Given the description of an element on the screen output the (x, y) to click on. 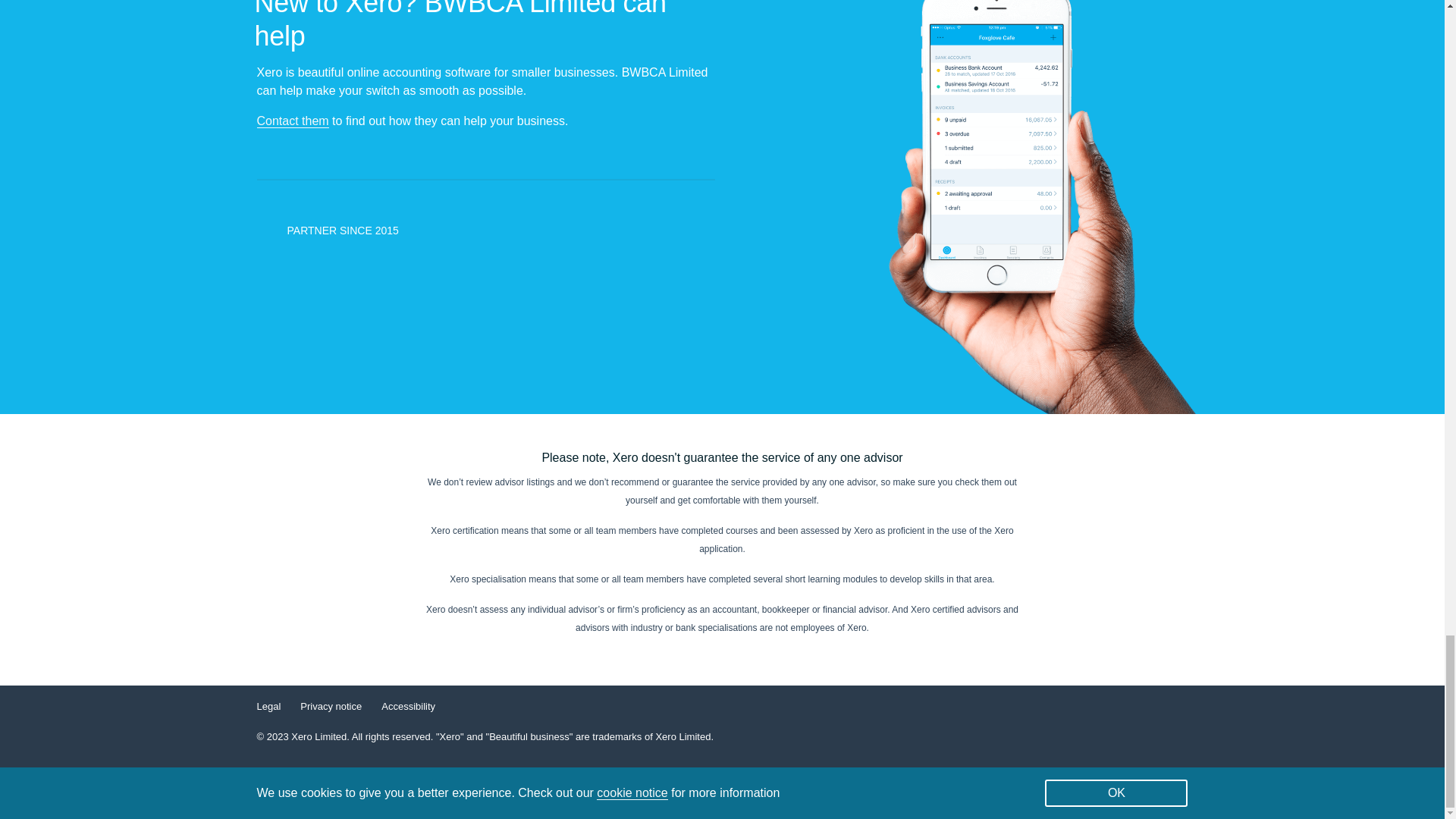
Contact them (292, 120)
Legal (268, 706)
Privacy notice (330, 706)
Accessibility (408, 706)
